Given the description of an element on the screen output the (x, y) to click on. 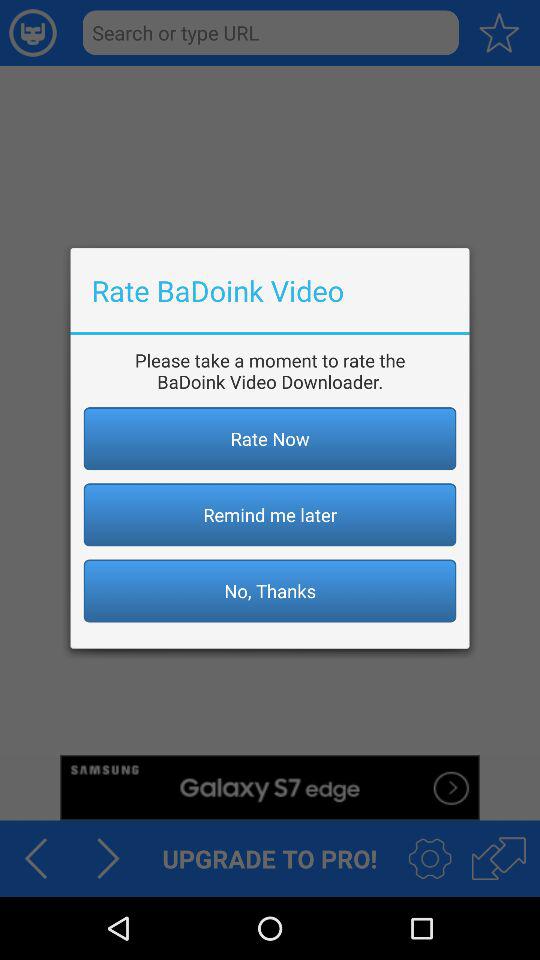
select no, thanks icon (269, 590)
